Given the description of an element on the screen output the (x, y) to click on. 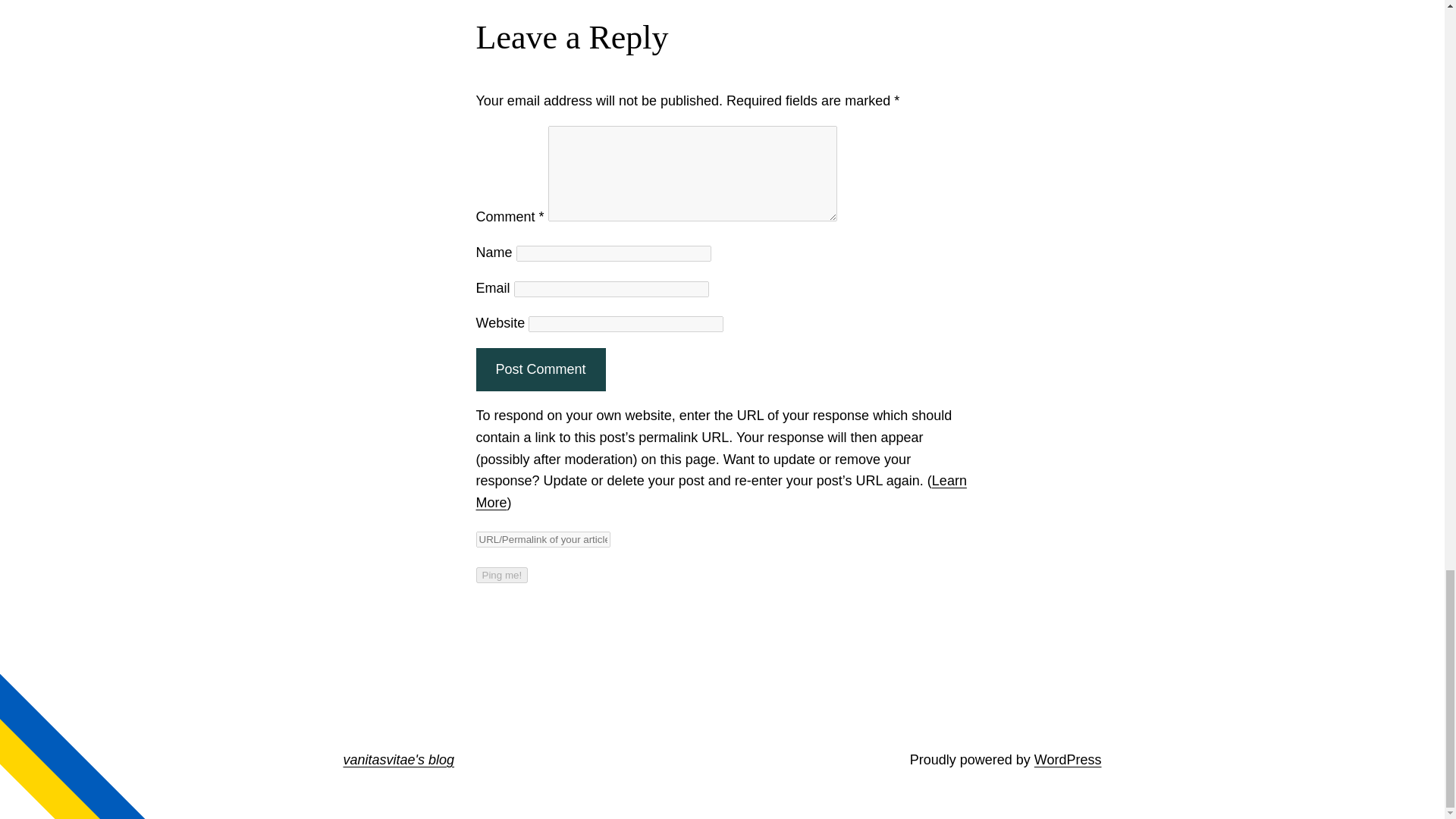
vanitasvitae's blog (398, 759)
Post Comment (540, 369)
Ping me! (502, 575)
WordPress (1067, 759)
Ping me! (502, 575)
Post Comment (540, 369)
Learn More (721, 491)
